Given the description of an element on the screen output the (x, y) to click on. 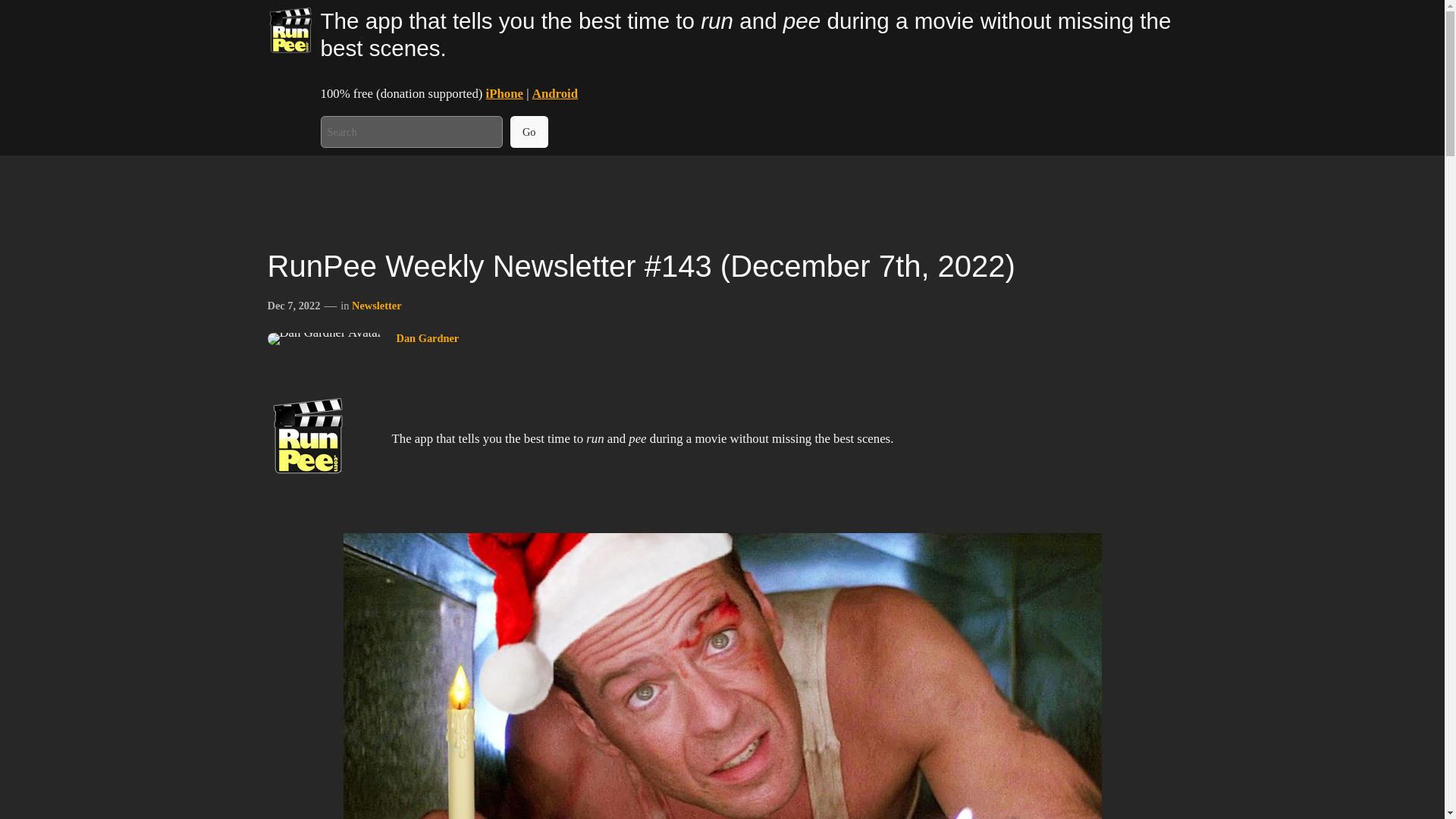
iPhone (504, 93)
Newsletter (376, 305)
Dec 7, 2022 (293, 305)
Go (529, 132)
Android (555, 93)
Dan Gardner (427, 337)
